Given the description of an element on the screen output the (x, y) to click on. 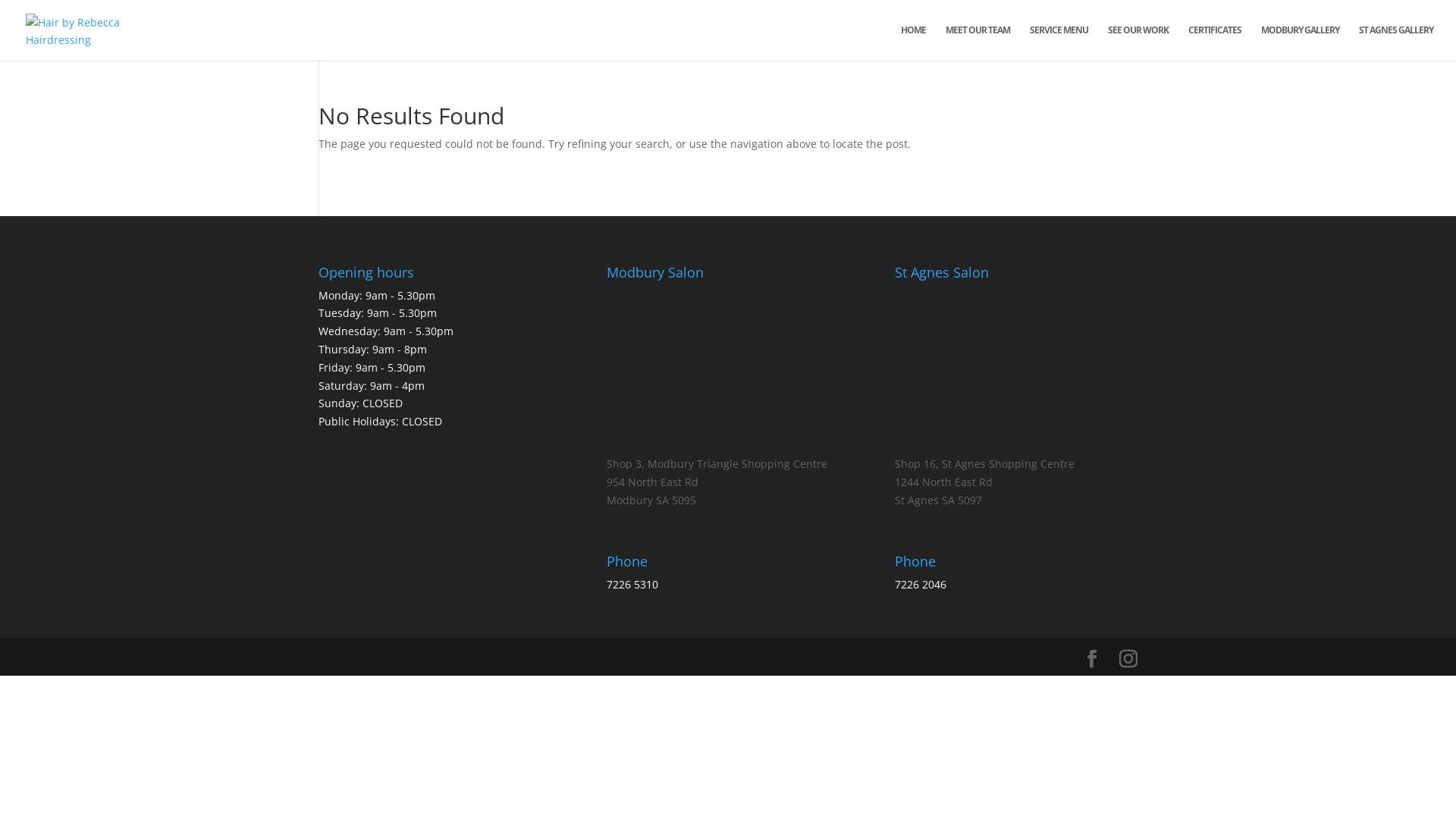
Google Map Embed Element type: hover (727, 368)
CERTIFICATES Element type: text (1214, 42)
ST AGNES GALLERY Element type: text (1395, 42)
MEET OUR TEAM Element type: text (977, 42)
SERVICE MENU Element type: text (1058, 42)
SEE OUR WORK Element type: text (1137, 42)
Google Map Embed Element type: hover (1015, 368)
MODBURY GALLERY Element type: text (1300, 42)
HOME Element type: text (912, 42)
